Given the description of an element on the screen output the (x, y) to click on. 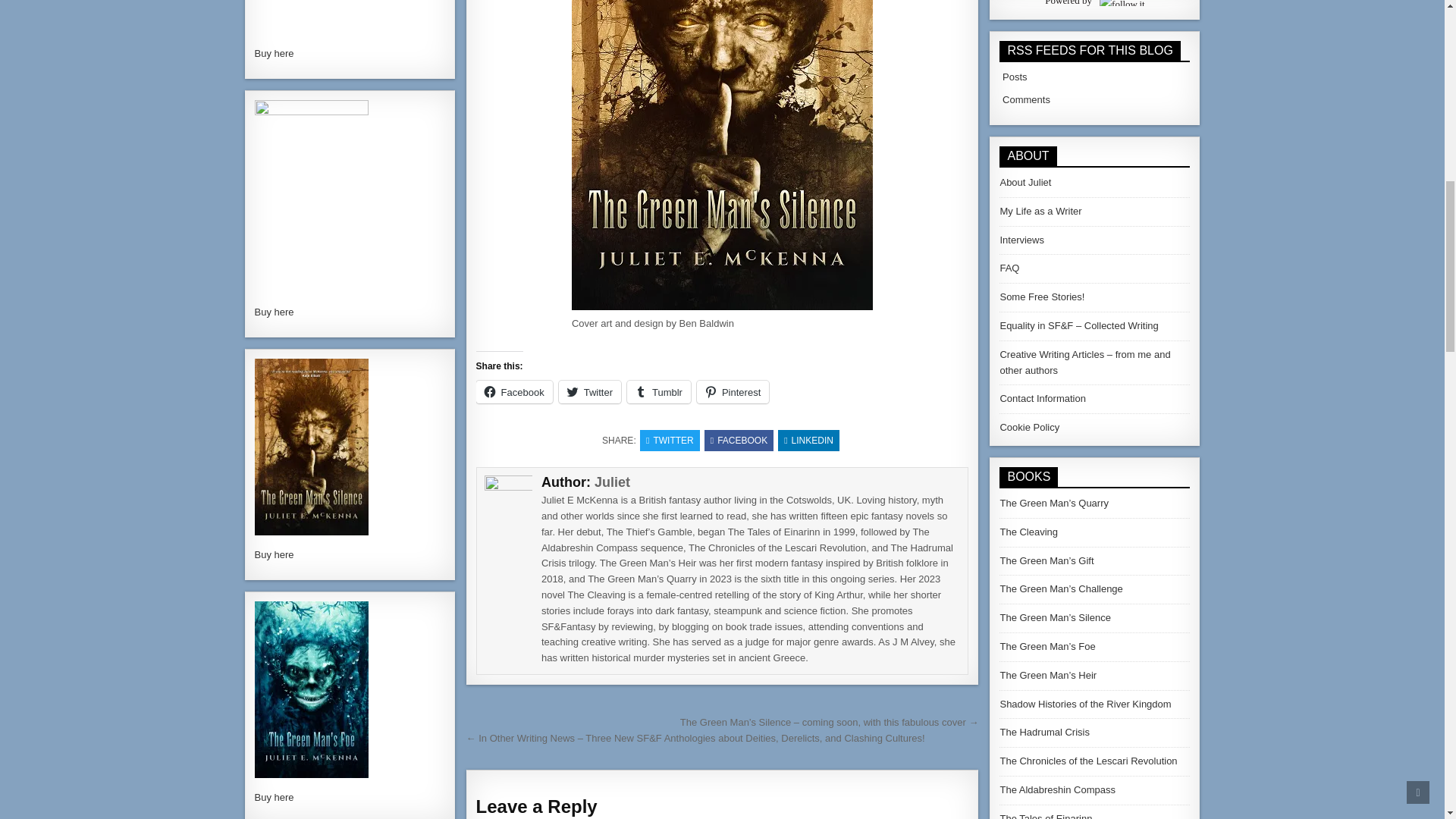
Click to share on Twitter (590, 391)
Share this on Linkedin (808, 440)
Click to share on Tumblr (658, 391)
Share this on Facebook (738, 440)
Click to share on Pinterest (732, 391)
Tweet This! (670, 440)
Click to share on Facebook (514, 391)
